Given the description of an element on the screen output the (x, y) to click on. 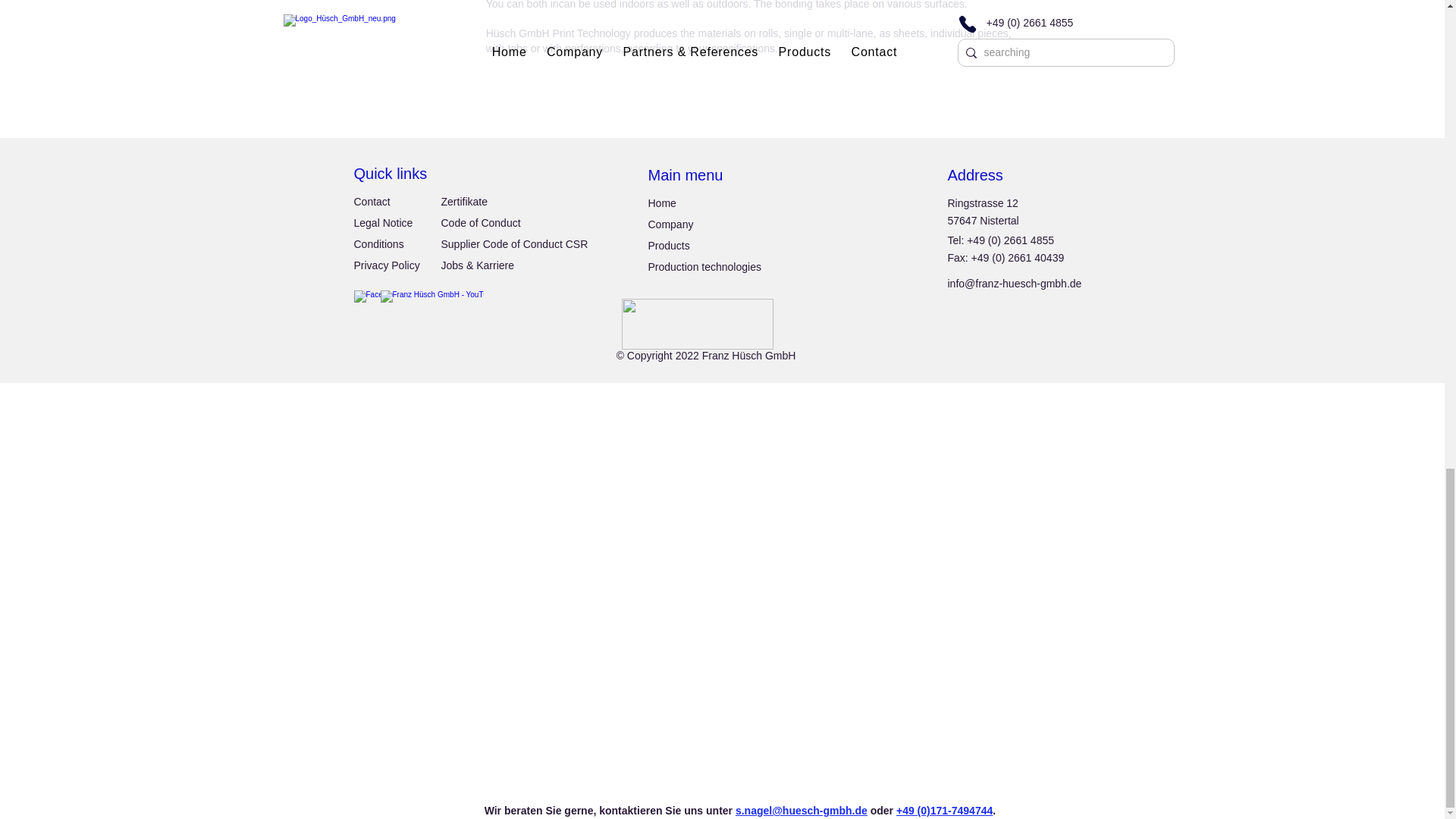
Code of Conduct (481, 223)
Zertifikate (464, 201)
Conditions (378, 244)
Legal Notice (382, 223)
Supplier Code of Conduct CSR (514, 244)
Production technologies (703, 266)
Contact (371, 201)
Home (661, 203)
Company (670, 224)
Products (667, 245)
